Given the description of an element on the screen output the (x, y) to click on. 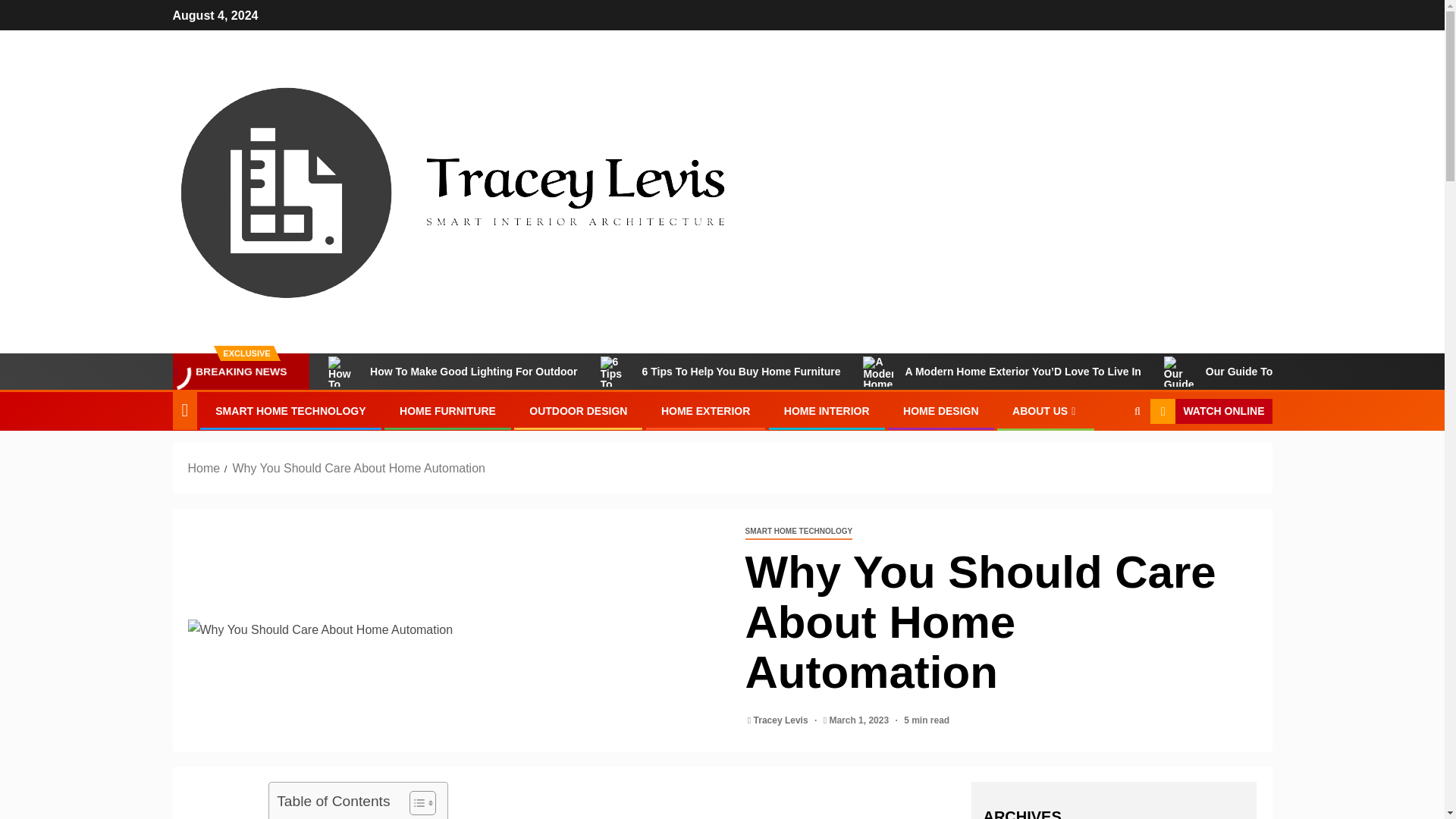
Our Guide To Outdoor And Garden Design (1292, 371)
Why You Should Care About Home Automation (454, 629)
Home (204, 468)
Tracey Levis (782, 719)
OUTDOOR DESIGN (578, 410)
SMART HOME TECHNOLOGY (797, 531)
HOME INTERIOR (826, 410)
How To Make Good Lighting For Outdoor (452, 371)
HOME EXTERIOR (705, 410)
Search (1107, 457)
HOME FURNITURE (447, 410)
ABOUT US (1044, 410)
HOME DESIGN (940, 410)
6 Tips To Help You Buy Home Furniture (720, 371)
Why You Should Care About Home Automation (357, 468)
